Given the description of an element on the screen output the (x, y) to click on. 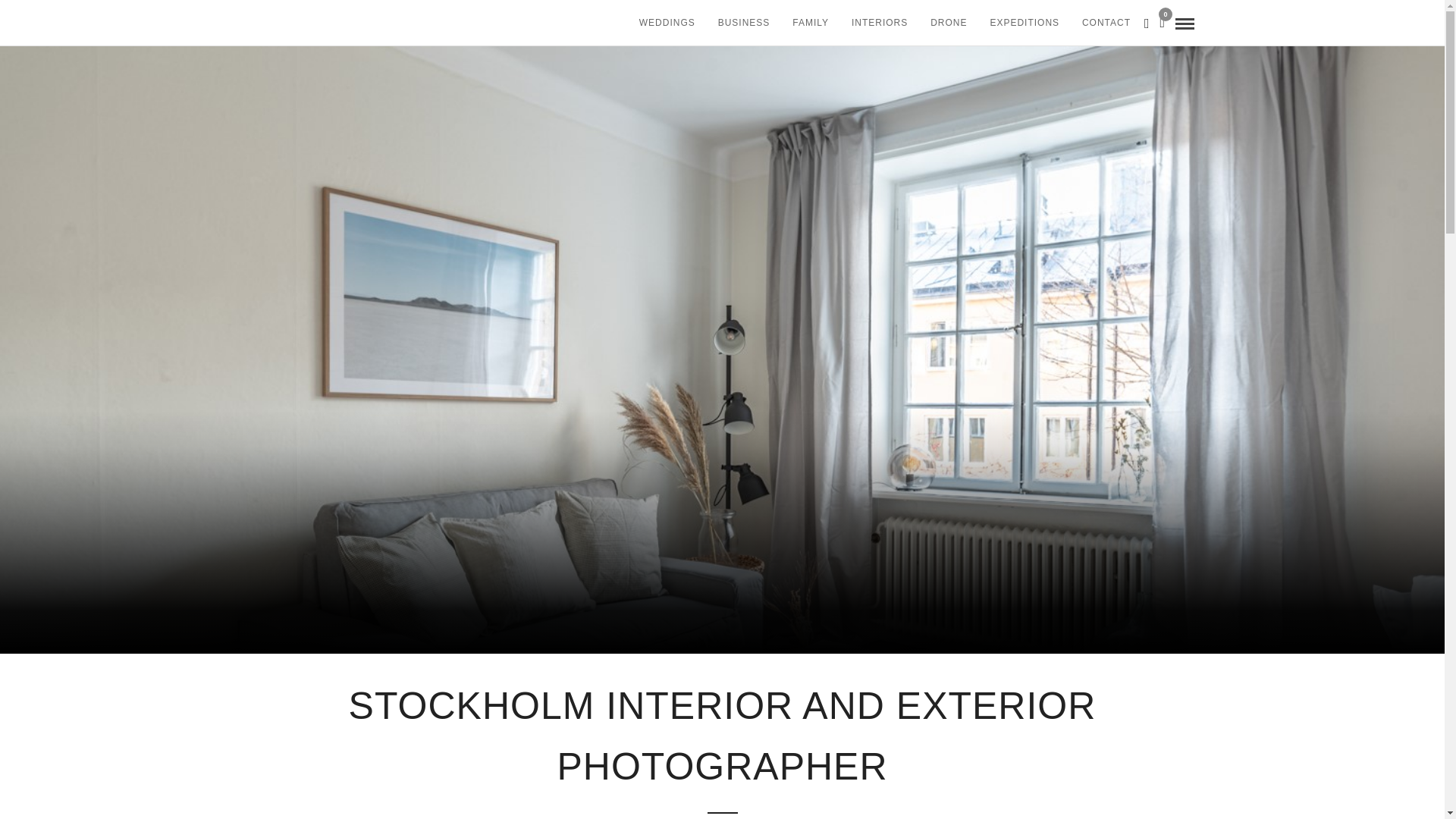
EXPEDITIONS (1023, 23)
FAMILY (810, 23)
INTERIORS (879, 23)
WEDDINGS (666, 23)
BUSINESS (743, 23)
CONTACT (1105, 23)
DRONE (948, 23)
